Given the description of an element on the screen output the (x, y) to click on. 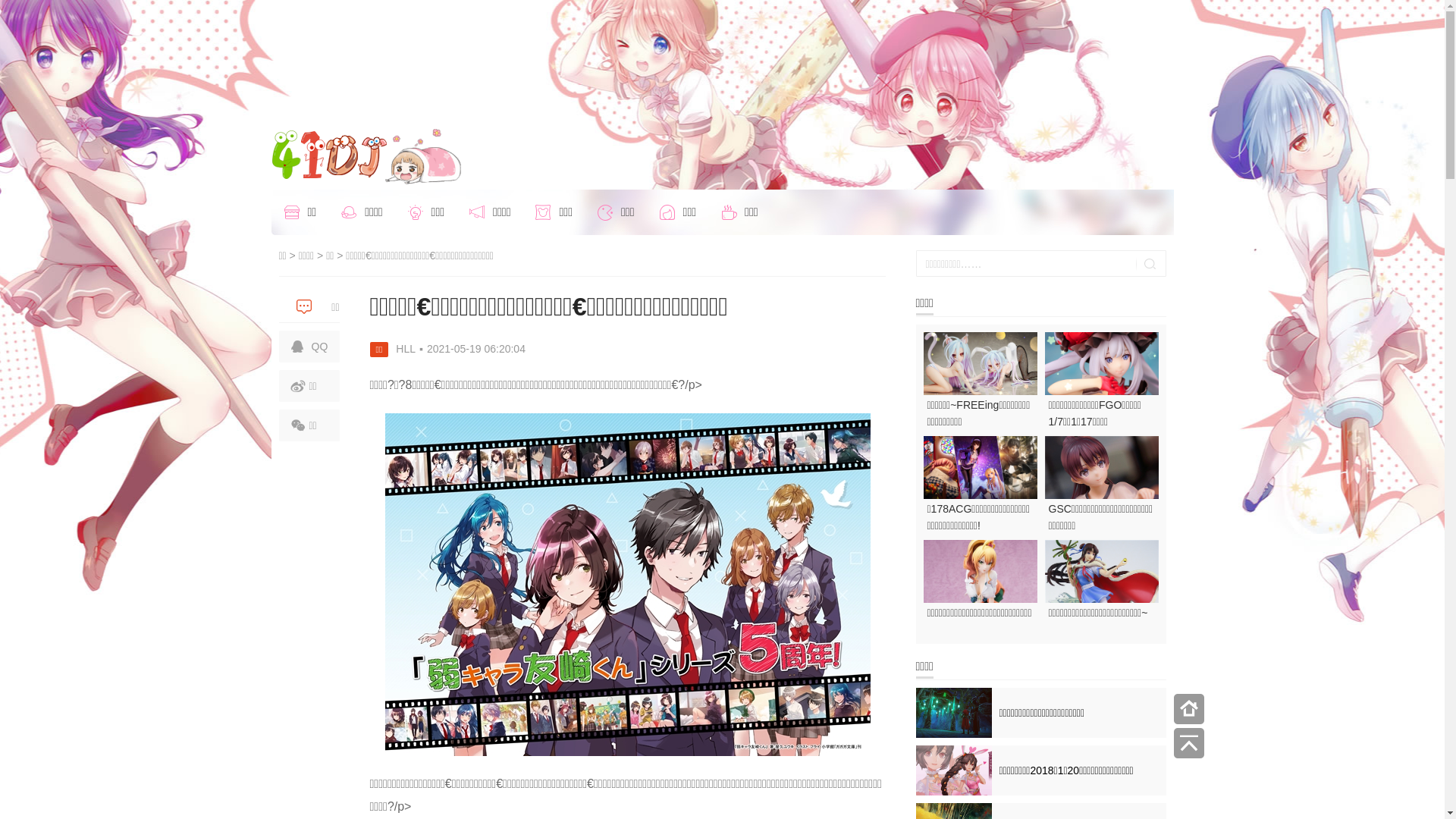
QQ Element type: text (309, 346)
